Given the description of an element on the screen output the (x, y) to click on. 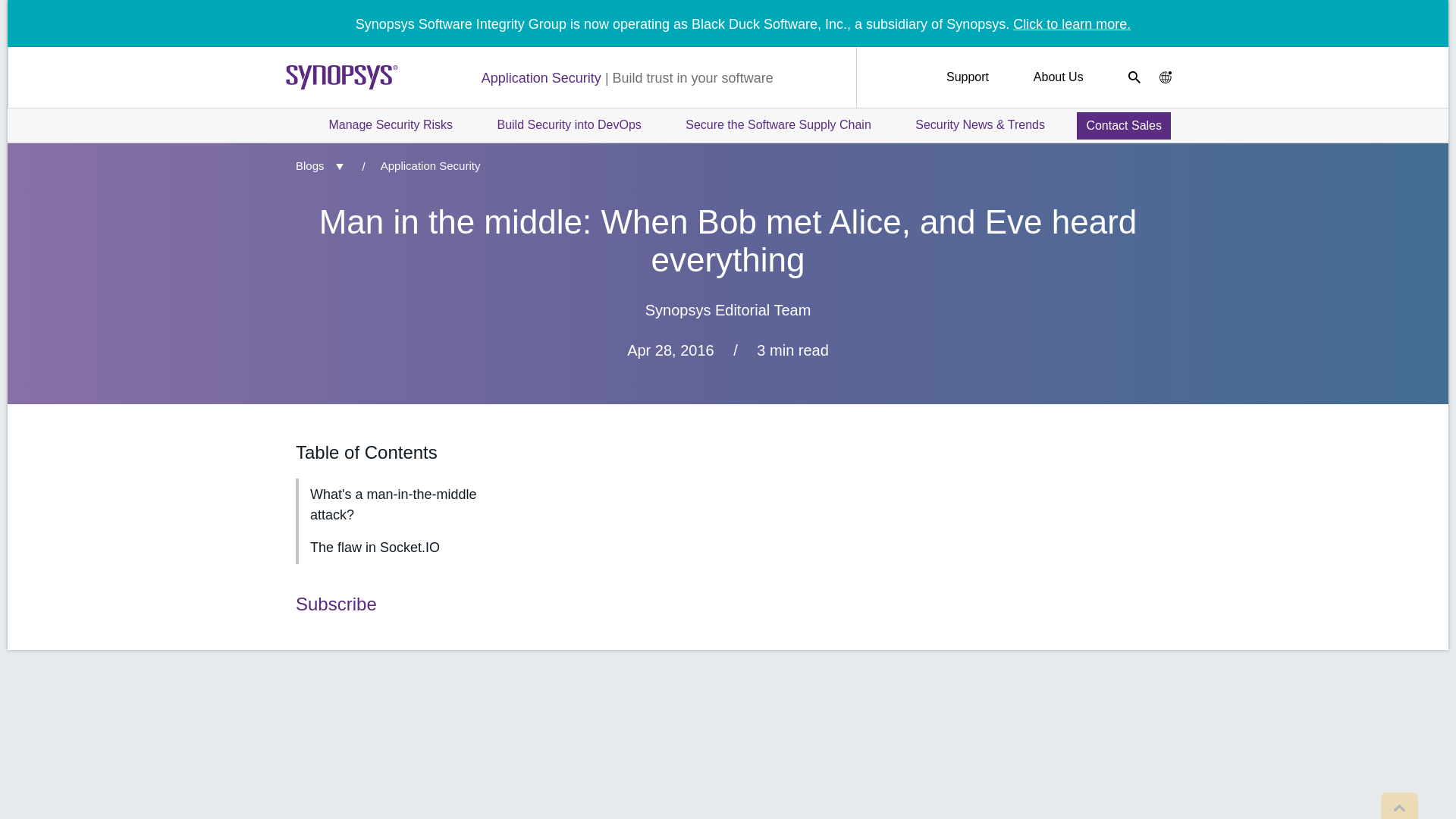
Synopsys Editorial Team (727, 310)
The flaw in Socket.IO (395, 547)
Support (967, 76)
Manage Security Risks (390, 124)
Application Security (421, 164)
Contact Sales (1123, 124)
Build Security into DevOps (568, 124)
Blogs (312, 164)
What's a man-in-the-middle attack? (395, 504)
About Us (1058, 76)
